Given the description of an element on the screen output the (x, y) to click on. 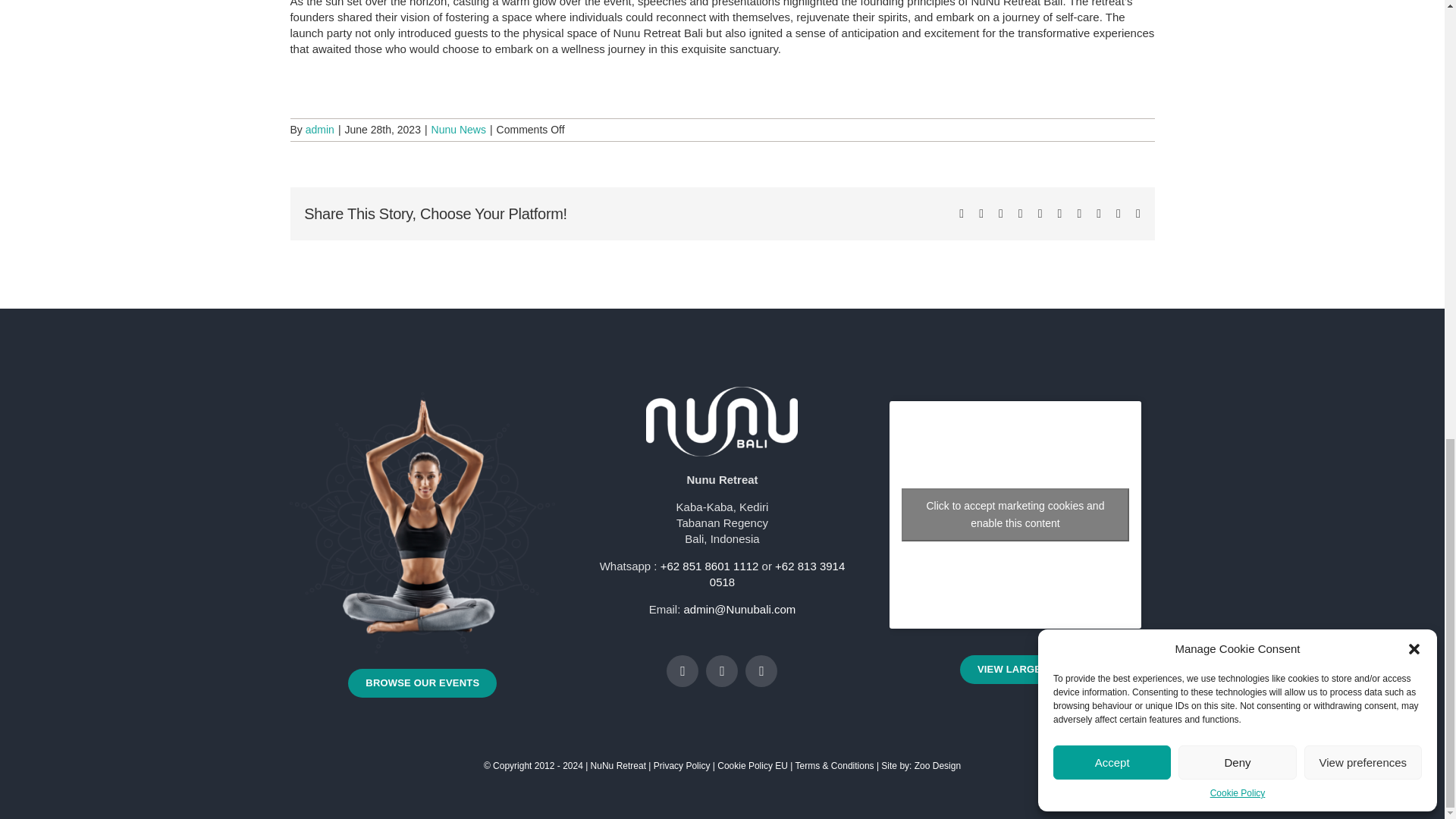
Nunu News (458, 129)
Posts by admin (319, 129)
NuNu Bali Logo (721, 421)
nunu-gfooter-img01 (421, 522)
admin (319, 129)
BROWSE OUR EVENTS (421, 683)
